Given the description of an element on the screen output the (x, y) to click on. 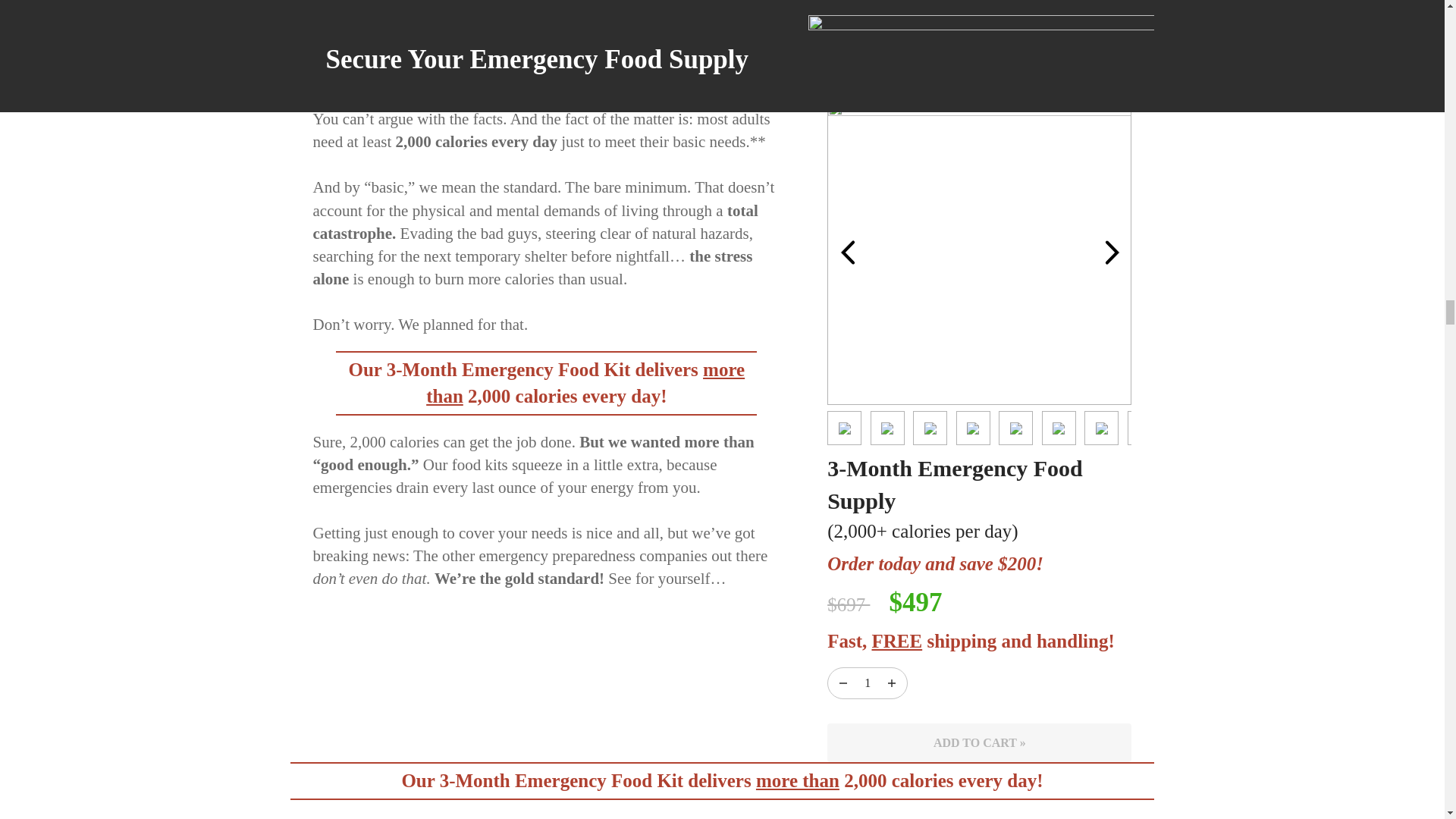
Go to the next slide Next (1112, 252)
Quantity (891, 682)
1 (867, 682)
Quantity (867, 682)
Go to the next slide (1111, 252)
Quantity (843, 682)
Go to the previous slide Preview (847, 252)
Go to the previous slide (847, 252)
